Given the description of an element on the screen output the (x, y) to click on. 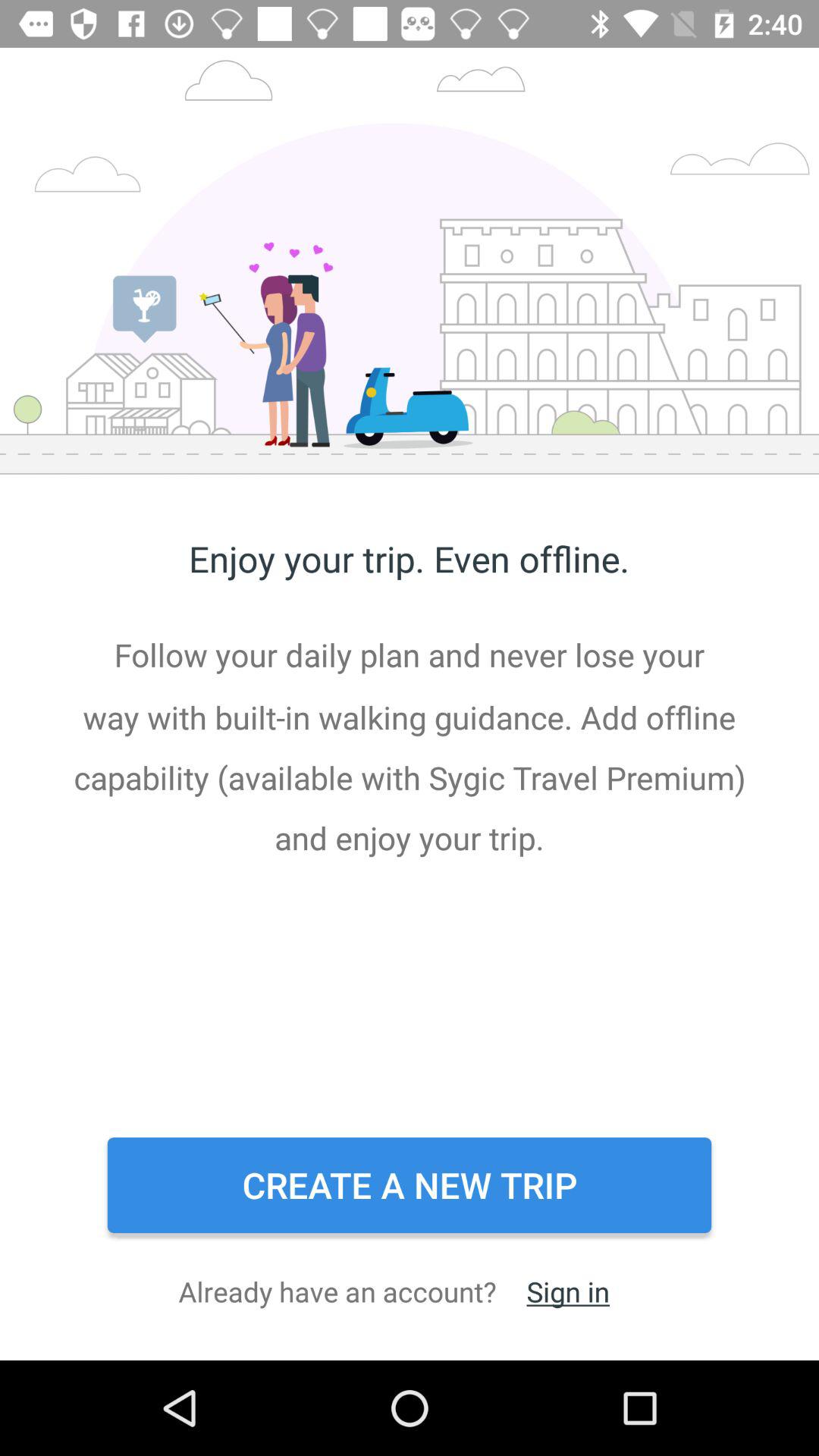
select the item next to the already have an (567, 1291)
